Given the description of an element on the screen output the (x, y) to click on. 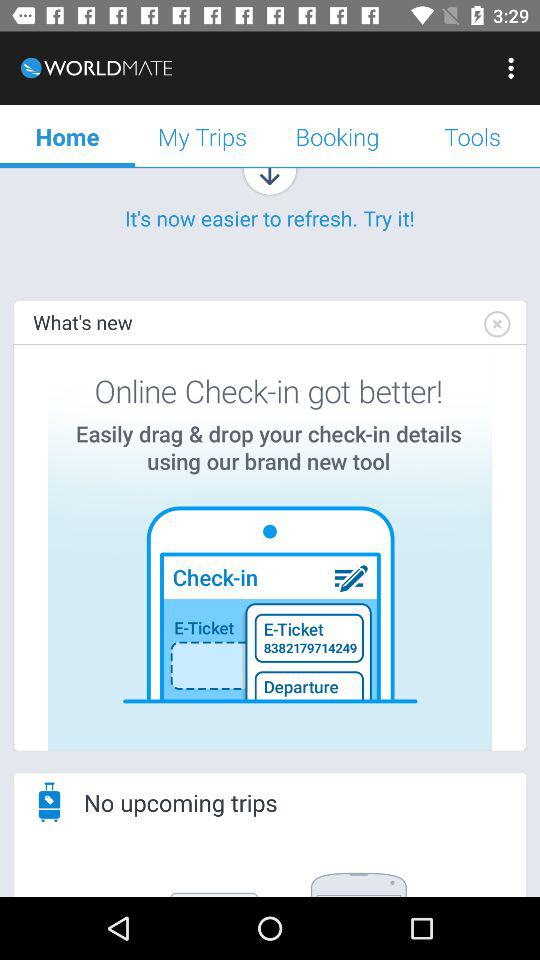
press the app above the tools app (513, 67)
